Given the description of an element on the screen output the (x, y) to click on. 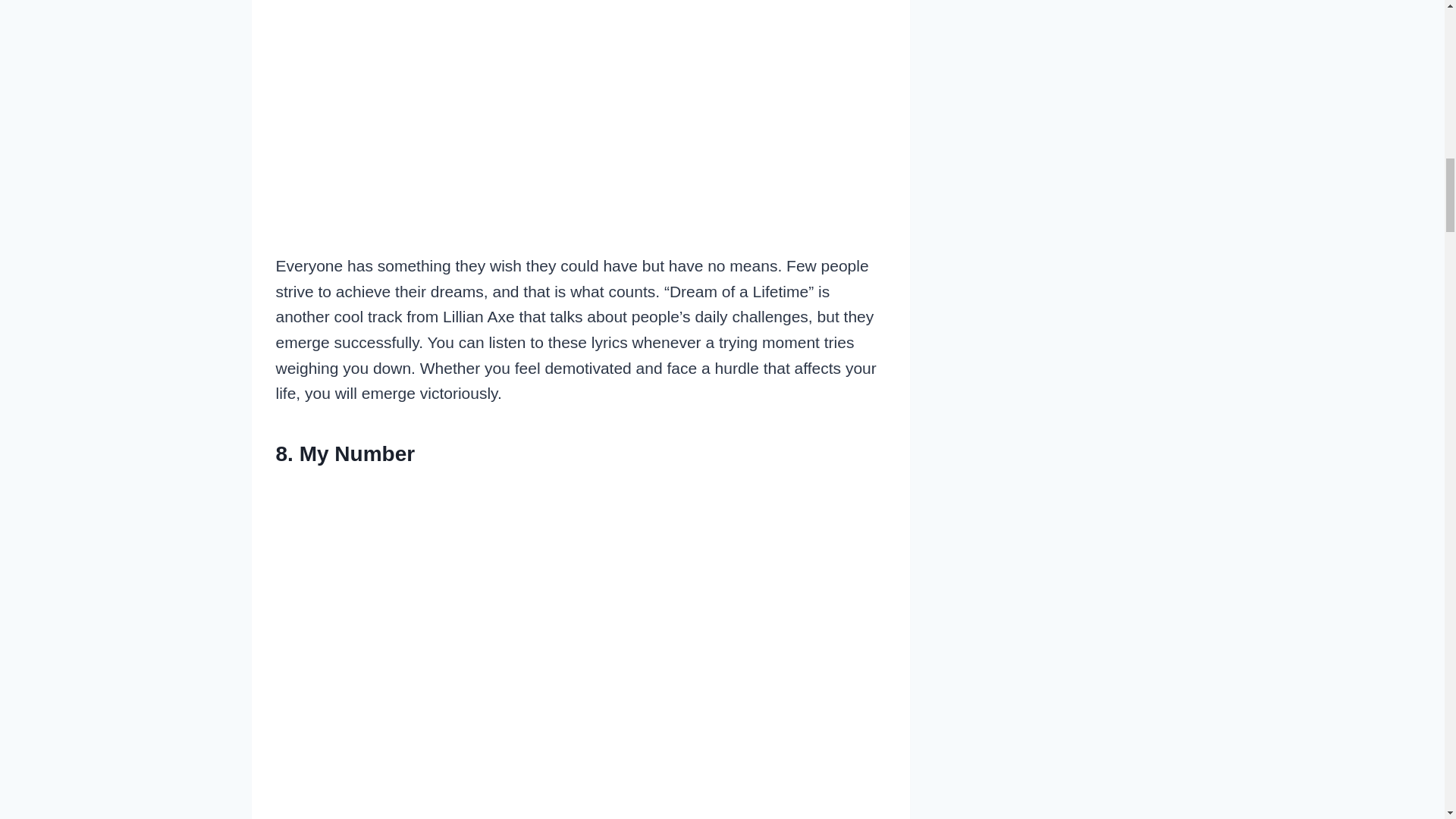
lillian axe dream of a lifetime (581, 89)
